Given the description of an element on the screen output the (x, y) to click on. 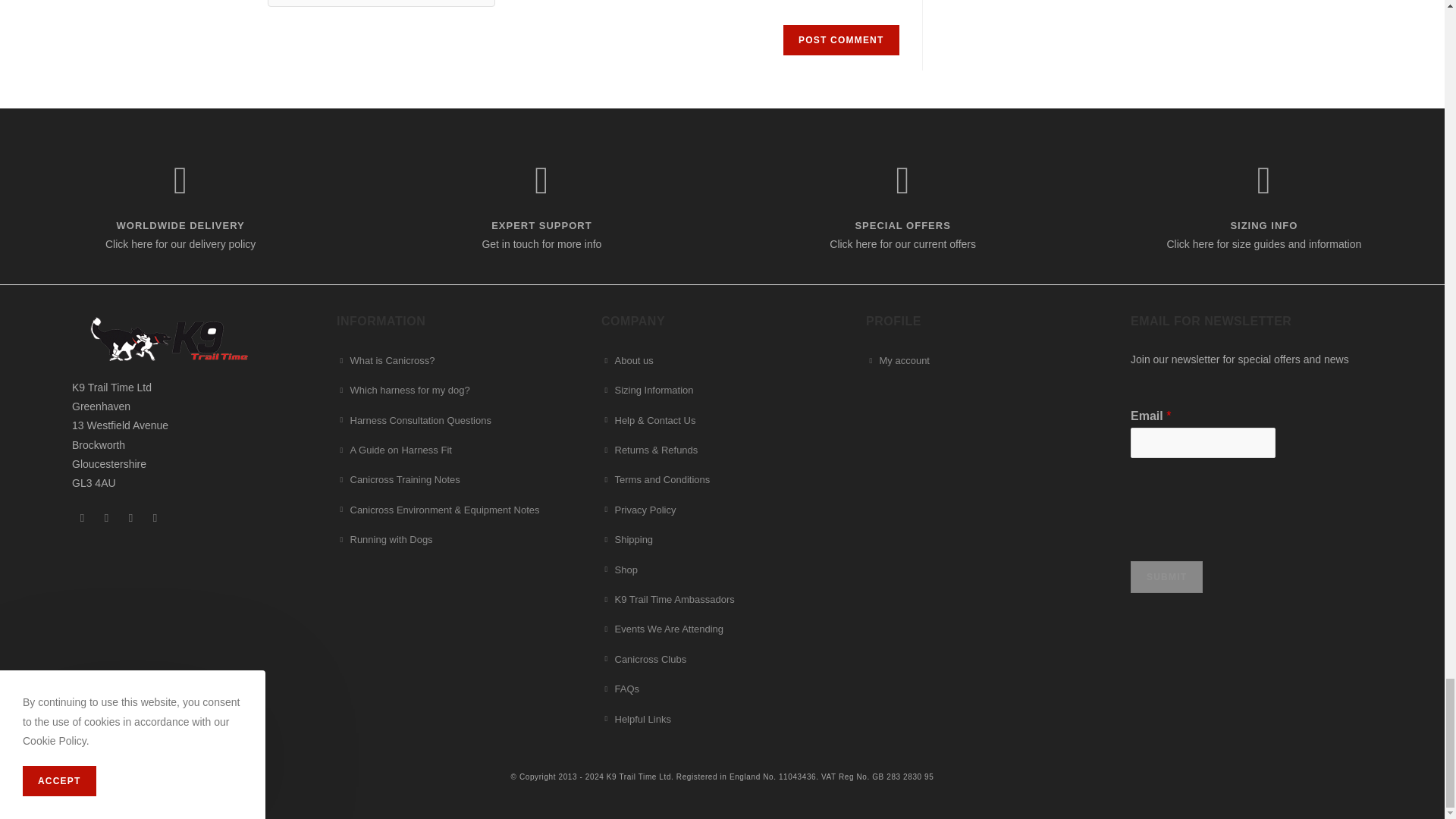
Widget containing checkbox for hCaptcha security challenge (381, 4)
Widget containing checkbox for hCaptcha security challenge (1245, 502)
Post Comment (840, 40)
